Given the description of an element on the screen output the (x, y) to click on. 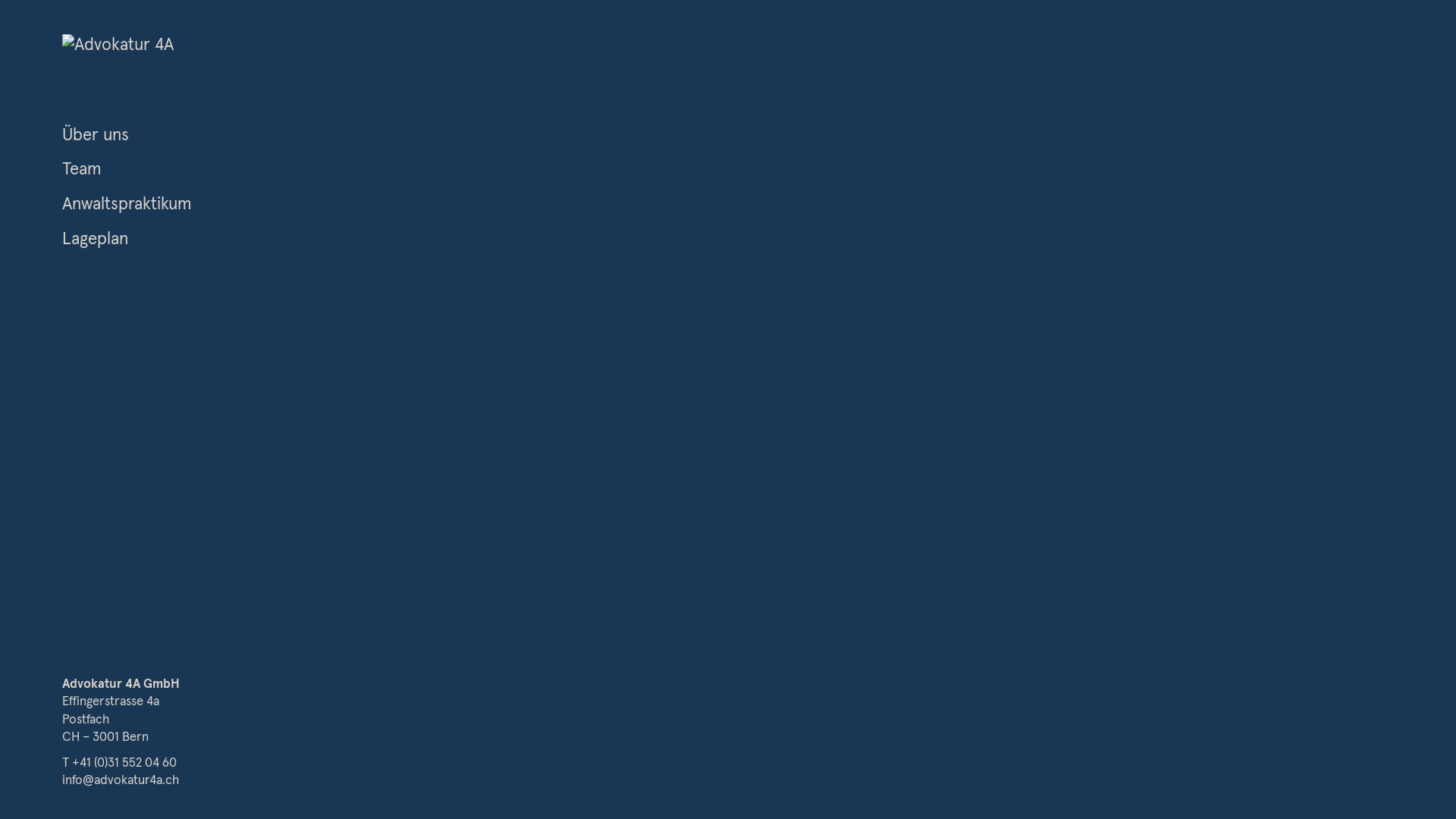
Anwaltspraktikum Element type: text (126, 204)
info@advokatur4a.ch Element type: text (120, 780)
Advokatur 4A GmbH Element type: text (120, 683)
Lageplan Element type: text (95, 238)
Team Element type: text (81, 169)
